Given the description of an element on the screen output the (x, y) to click on. 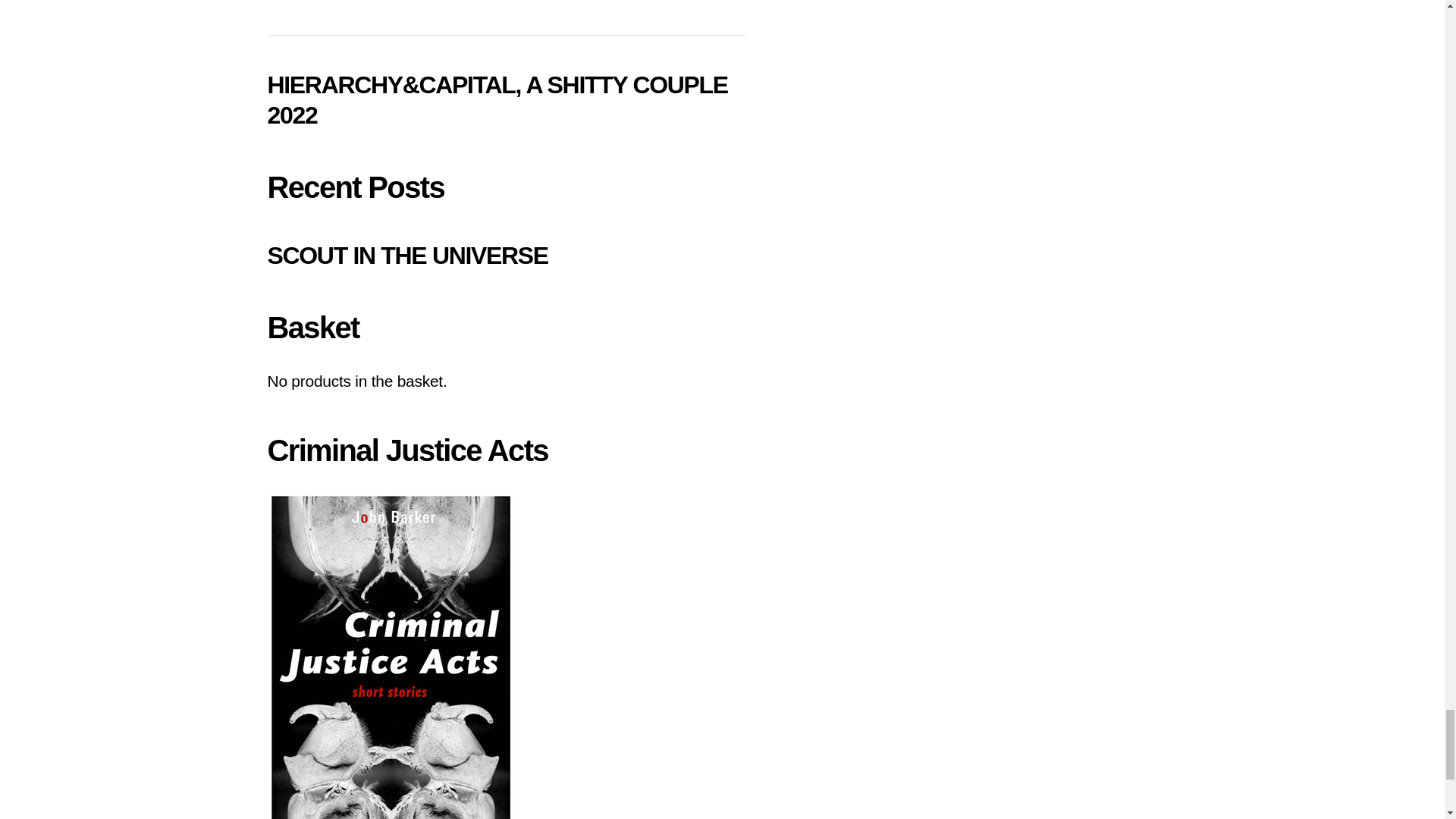
EMPTY CRIBS 2022 (371, 2)
SCOUT IN THE UNIVERSE (406, 255)
